Given the description of an element on the screen output the (x, y) to click on. 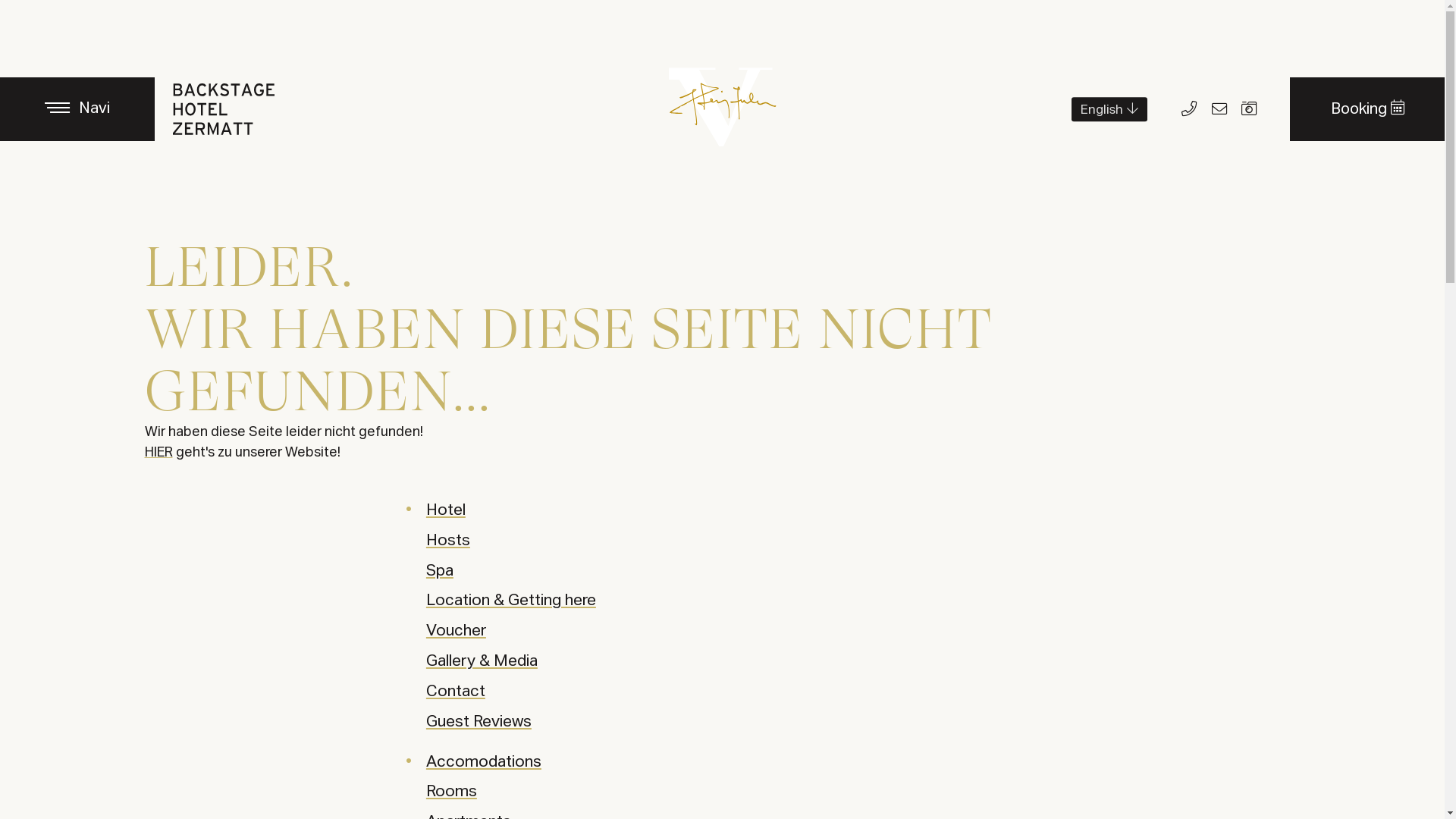
Accomodations Element type: text (483, 761)
English Element type: text (1109, 109)
HIER Element type: text (158, 452)
Hosts Element type: text (448, 541)
Spa Element type: text (439, 571)
Voucher Element type: text (456, 631)
Guest Reviews Element type: text (478, 722)
Booking Element type: text (1366, 109)
Bidler Element type: hover (1248, 108)
Hotel Element type: text (445, 510)
Location & Getting here Element type: text (511, 600)
Gallery & Media Element type: text (481, 661)
Contact Element type: text (455, 691)
Rooms Element type: text (451, 792)
